Given the description of an element on the screen output the (x, y) to click on. 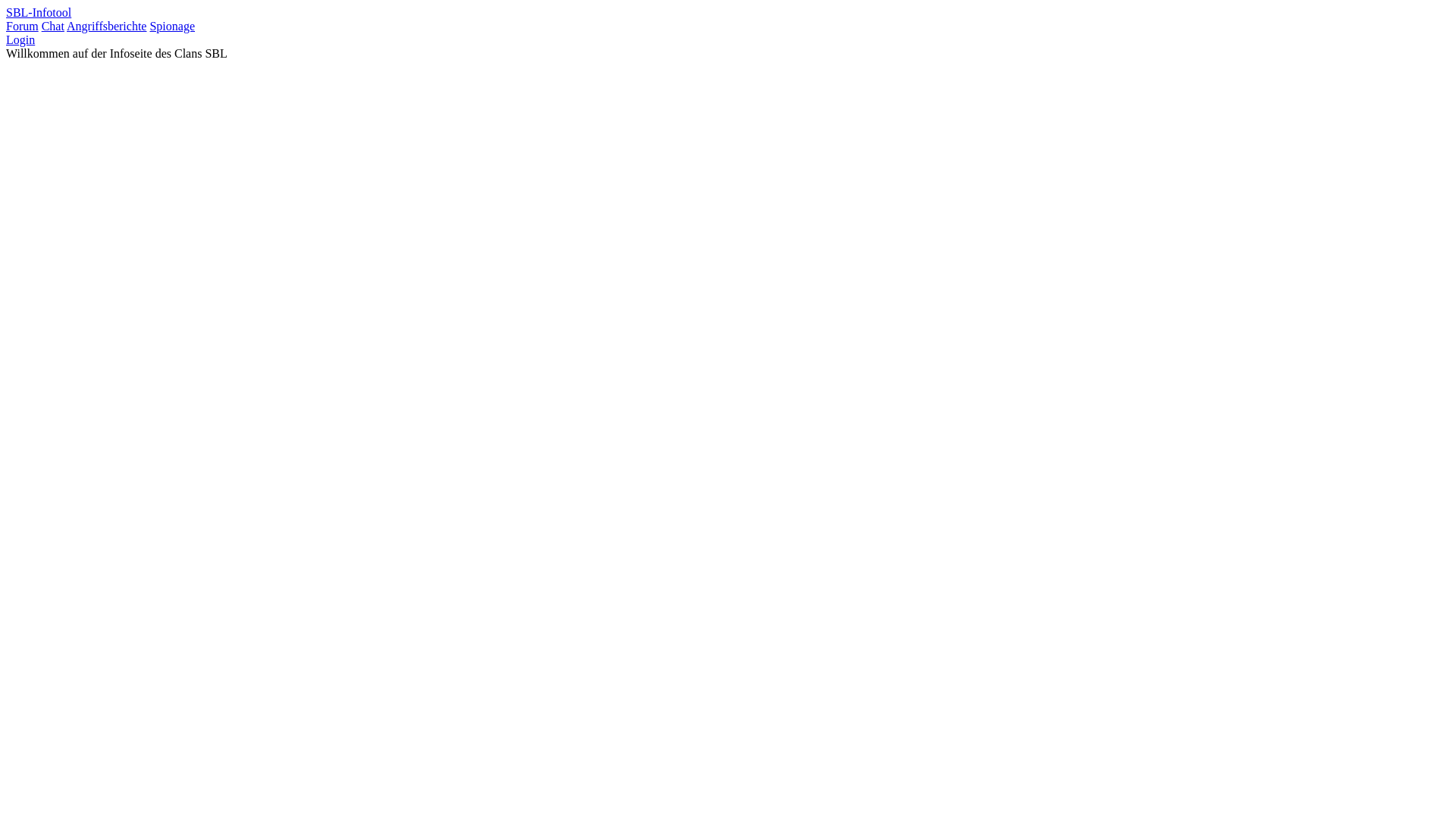
Forum Element type: text (22, 25)
SBL-Infotool Element type: text (38, 12)
Login Element type: text (20, 39)
Spionage Element type: text (171, 25)
Chat Element type: text (52, 25)
Angriffsberichte Element type: text (106, 25)
